Given the description of an element on the screen output the (x, y) to click on. 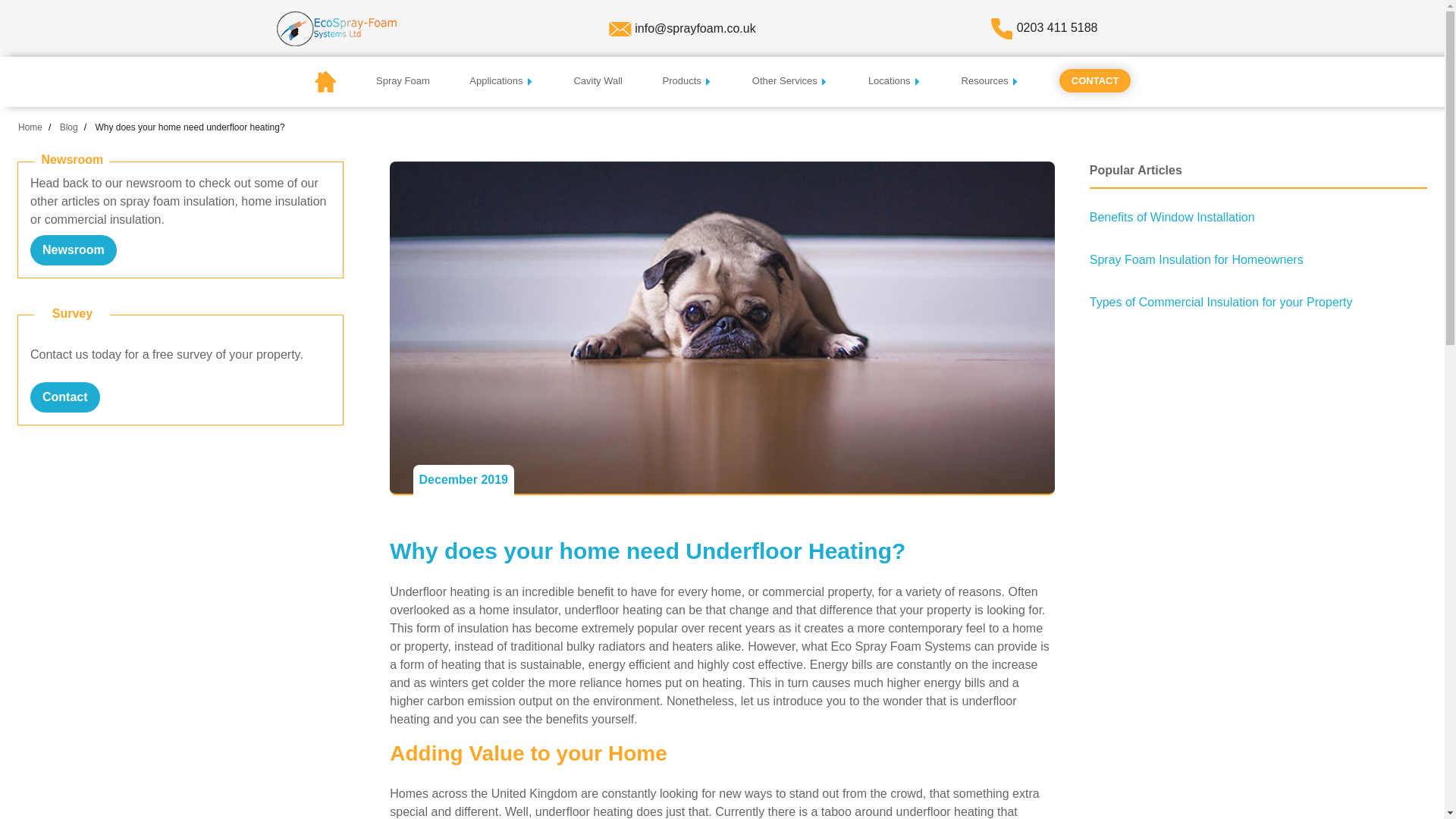
Home (336, 27)
Cavity Wall (598, 80)
Products (686, 80)
Call (1056, 27)
Spray Foam (402, 80)
Email (694, 27)
Spray Foam (402, 80)
0203 411 5188 (1056, 27)
Other Services (790, 80)
Applications (501, 80)
